Given the description of an element on the screen output the (x, y) to click on. 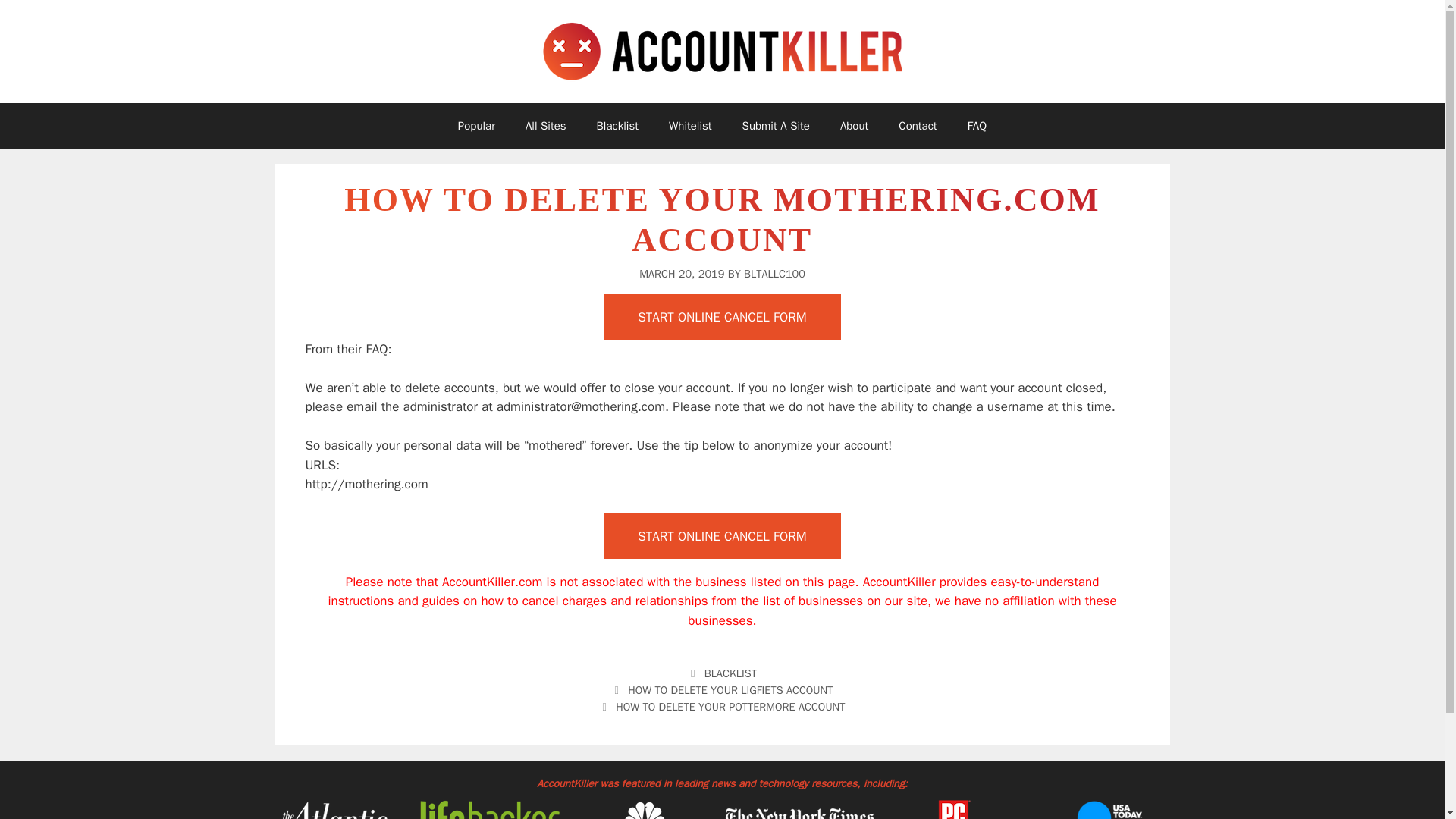
START ONLINE CANCEL FORM (722, 316)
Blacklist (616, 125)
Popular (476, 125)
All Sites (545, 125)
BLACKLIST (730, 673)
HOW TO DELETE YOUR LIGFIETS ACCOUNT (729, 689)
START ONLINE CANCEL FORM (722, 535)
Submit A Site (775, 125)
FAQ (976, 125)
HOW TO DELETE YOUR POTTERMORE ACCOUNT (729, 706)
